Given the description of an element on the screen output the (x, y) to click on. 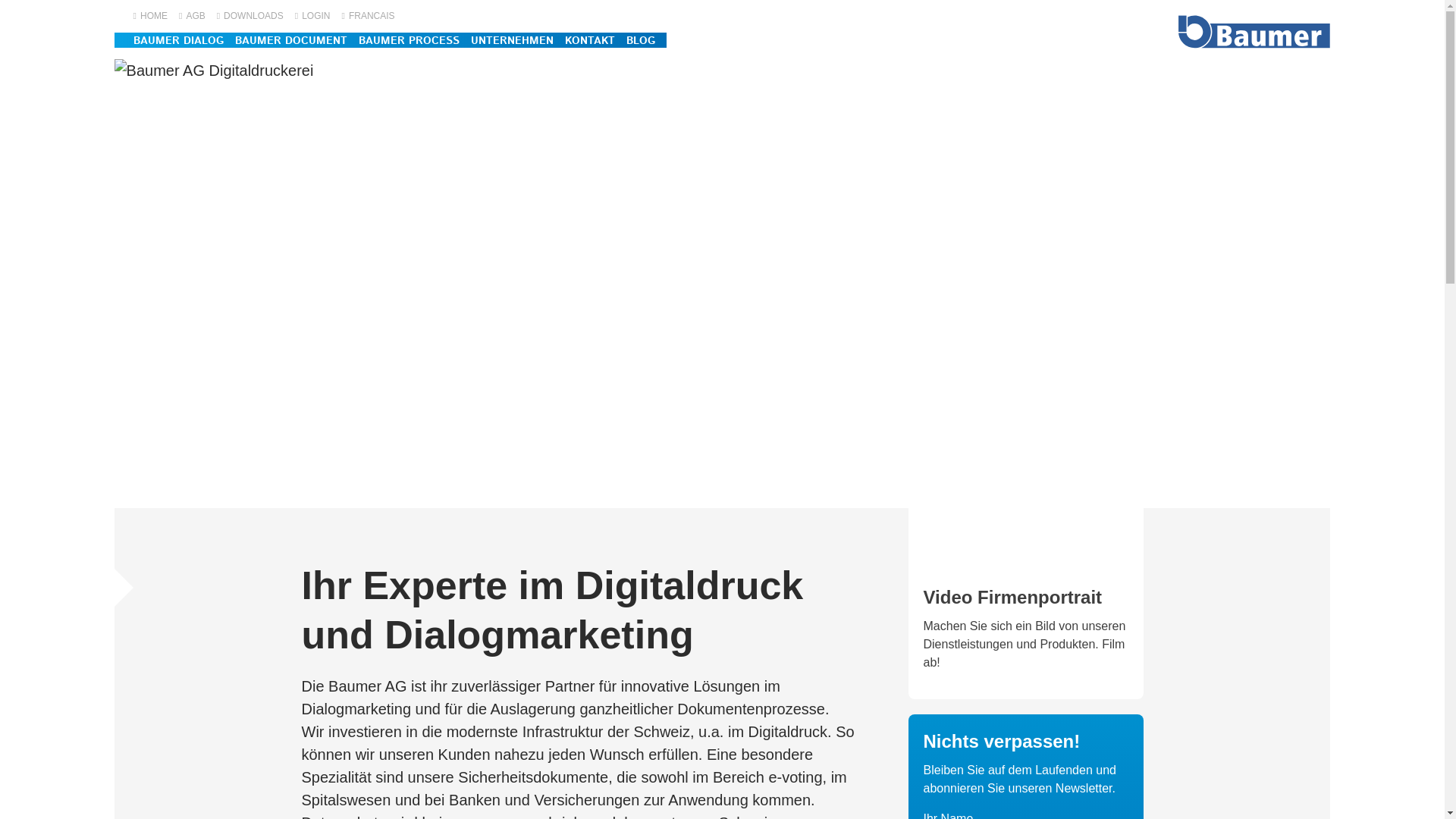
FRANCAIS Element type: text (368, 15)
BAUMER PROCESS Element type: text (408, 40)
DOWNLOADS Element type: text (249, 15)
Baumer AG Element type: hover (1025, 512)
UNTERNEHMEN Element type: text (511, 40)
BAUMER DIALOG Element type: text (178, 40)
BLOG Element type: text (640, 40)
KONTAKT Element type: text (589, 40)
AGB Element type: text (191, 15)
BAUMER DOCUMENT Element type: text (291, 40)
Baumer AG Bringt Informationen in Form Element type: hover (1254, 31)
LOGIN Element type: text (312, 15)
HOME Element type: text (150, 15)
